Given the description of an element on the screen output the (x, y) to click on. 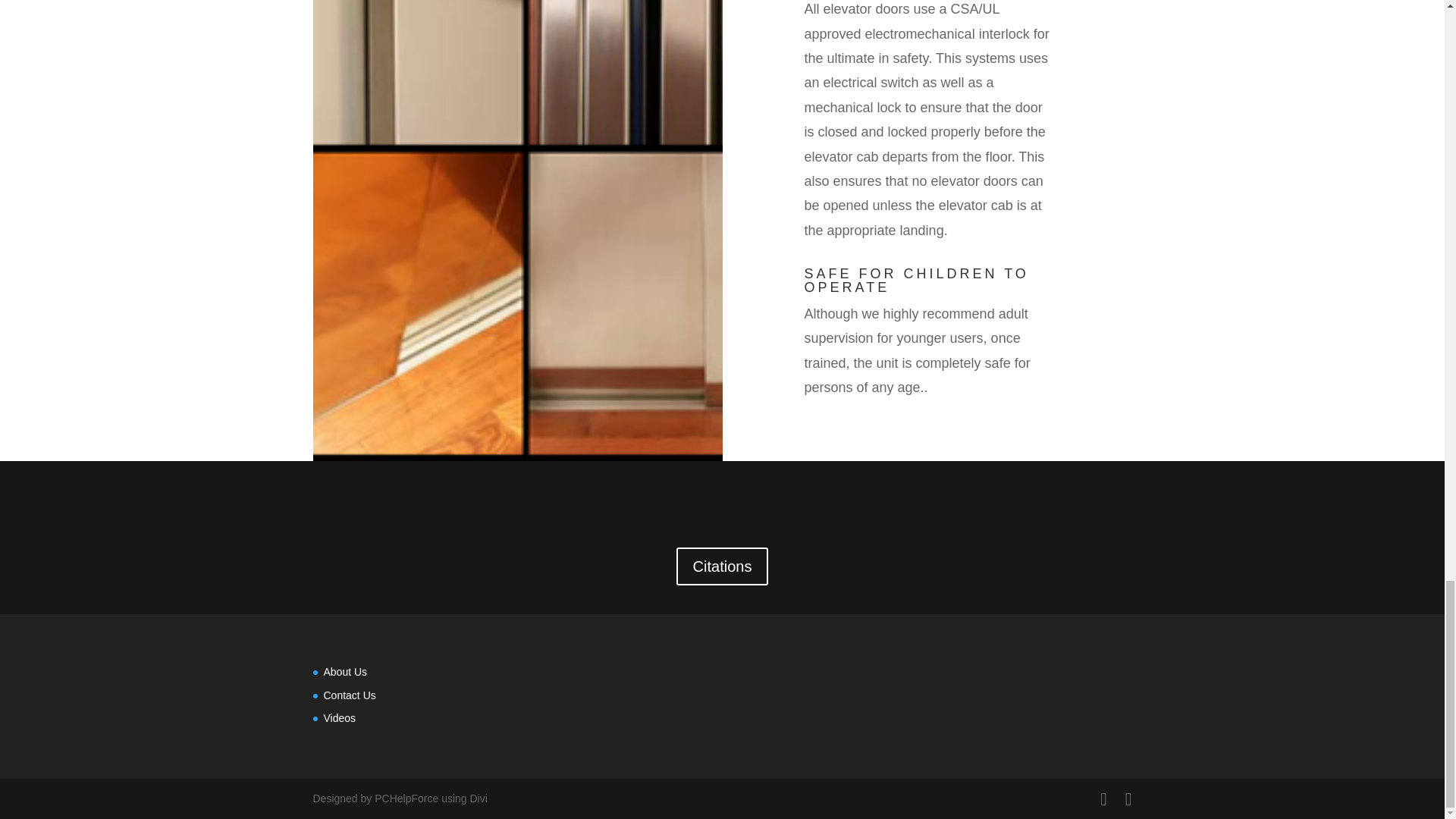
Contact Us (349, 695)
About Us (344, 671)
Citations (722, 566)
Videos (339, 717)
